Given the description of an element on the screen output the (x, y) to click on. 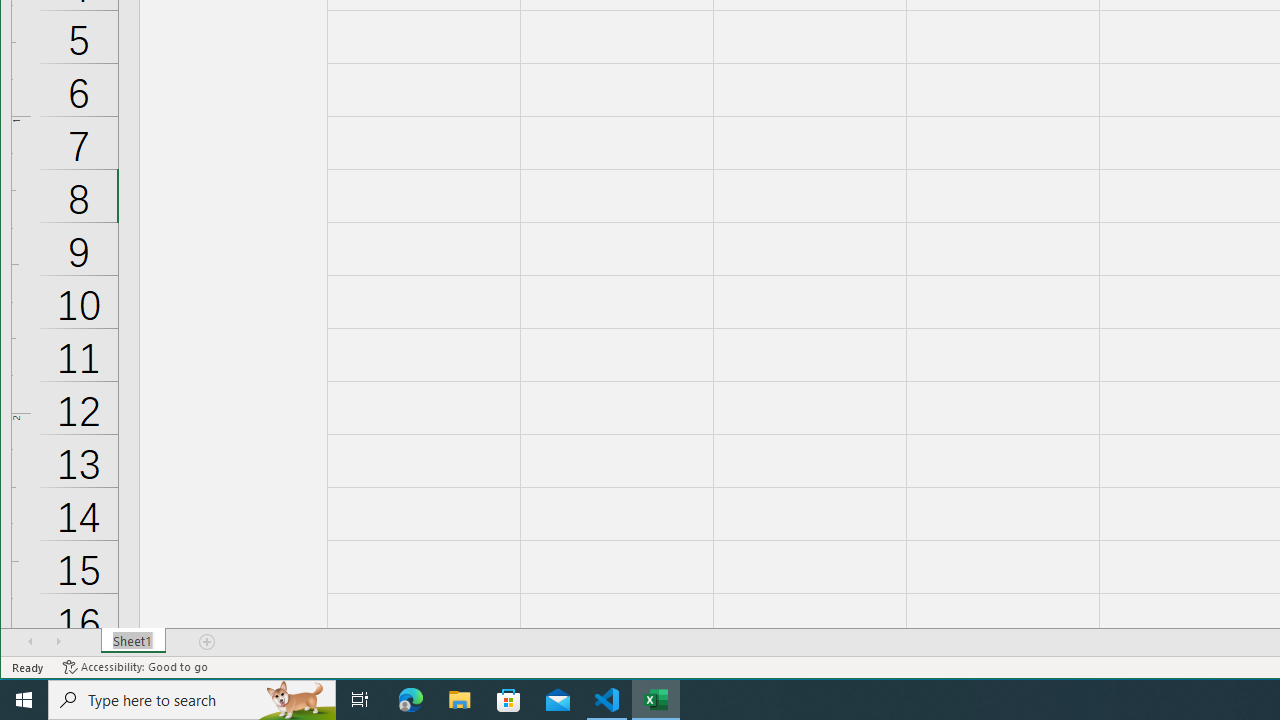
Start (24, 699)
